Given the description of an element on the screen output the (x, y) to click on. 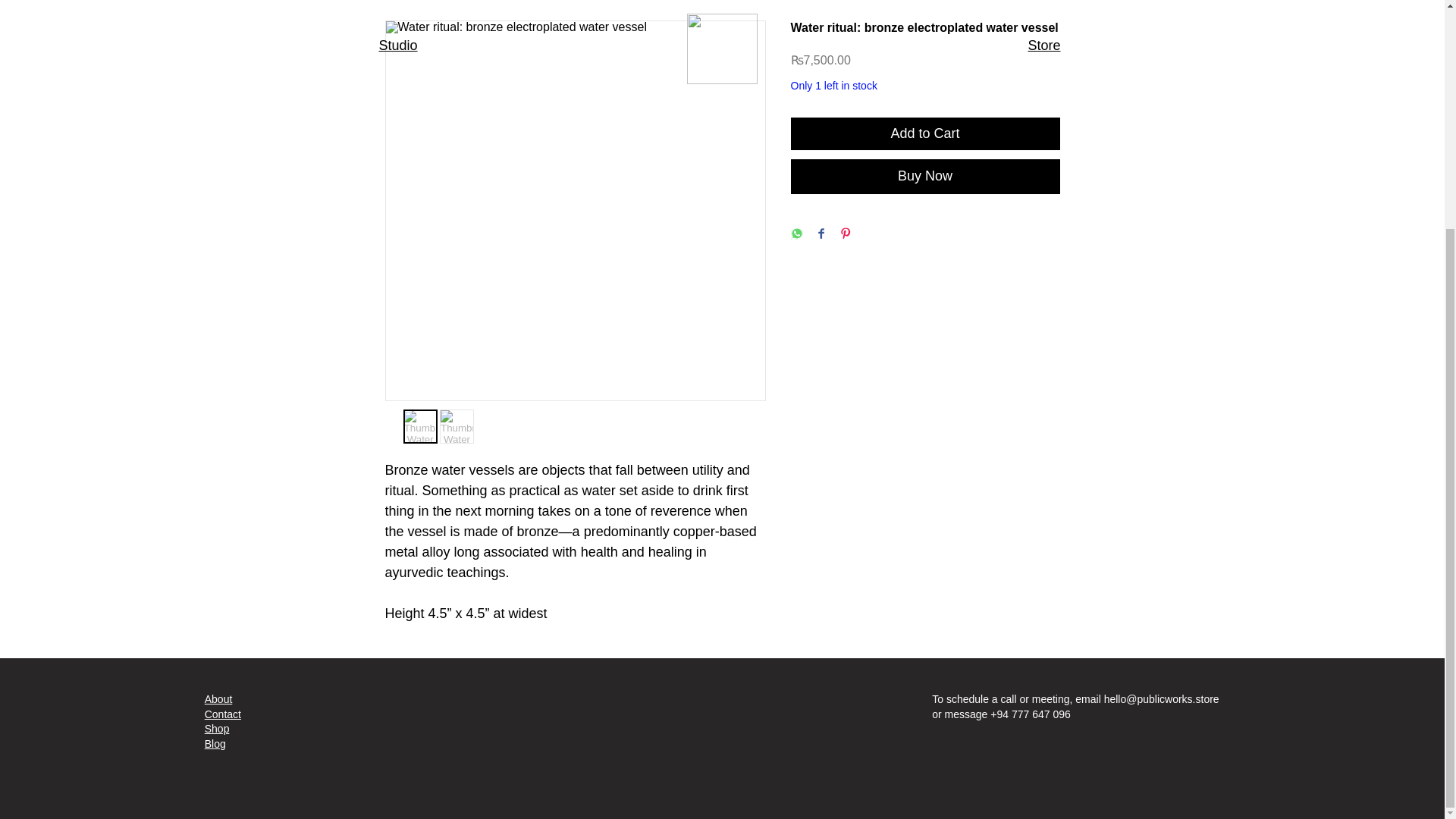
Add to Cart (924, 133)
Buy Now (924, 175)
Contact (223, 714)
Shop (217, 728)
Blog (215, 743)
About (218, 698)
